Given the description of an element on the screen output the (x, y) to click on. 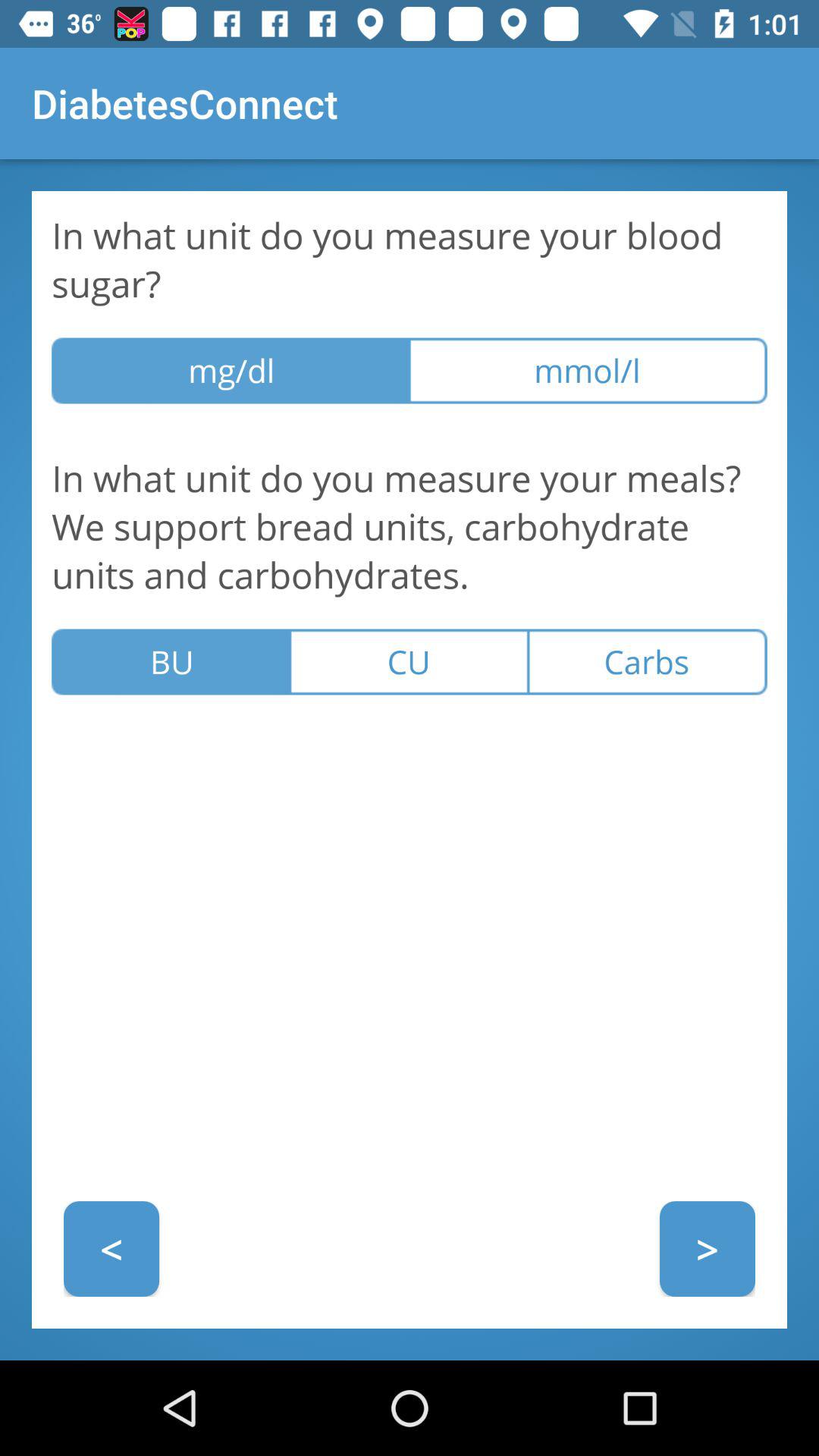
tap the mg/dl item (230, 370)
